Given the description of an element on the screen output the (x, y) to click on. 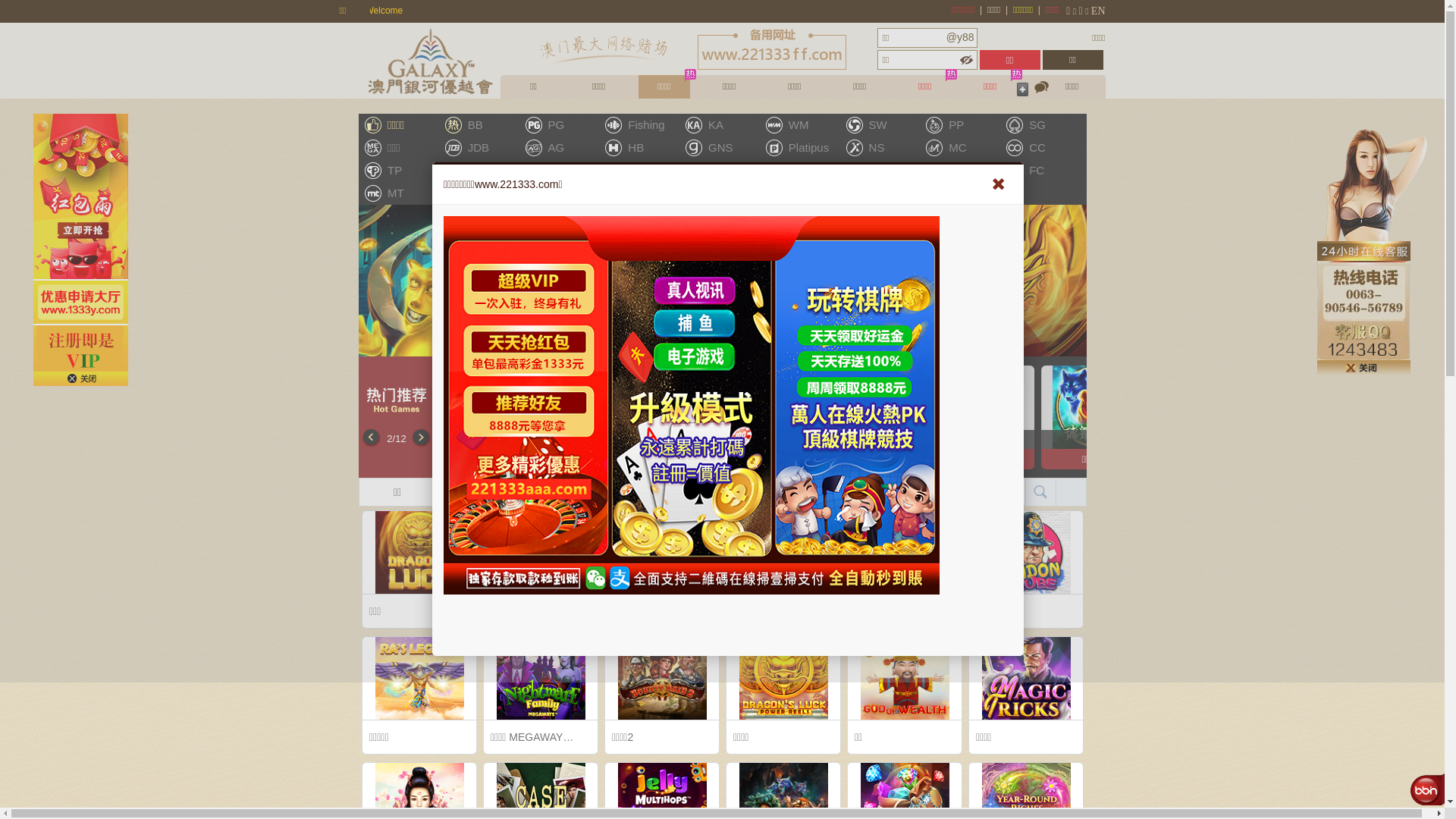
EN Element type: text (1103, 10)
